Given the description of an element on the screen output the (x, y) to click on. 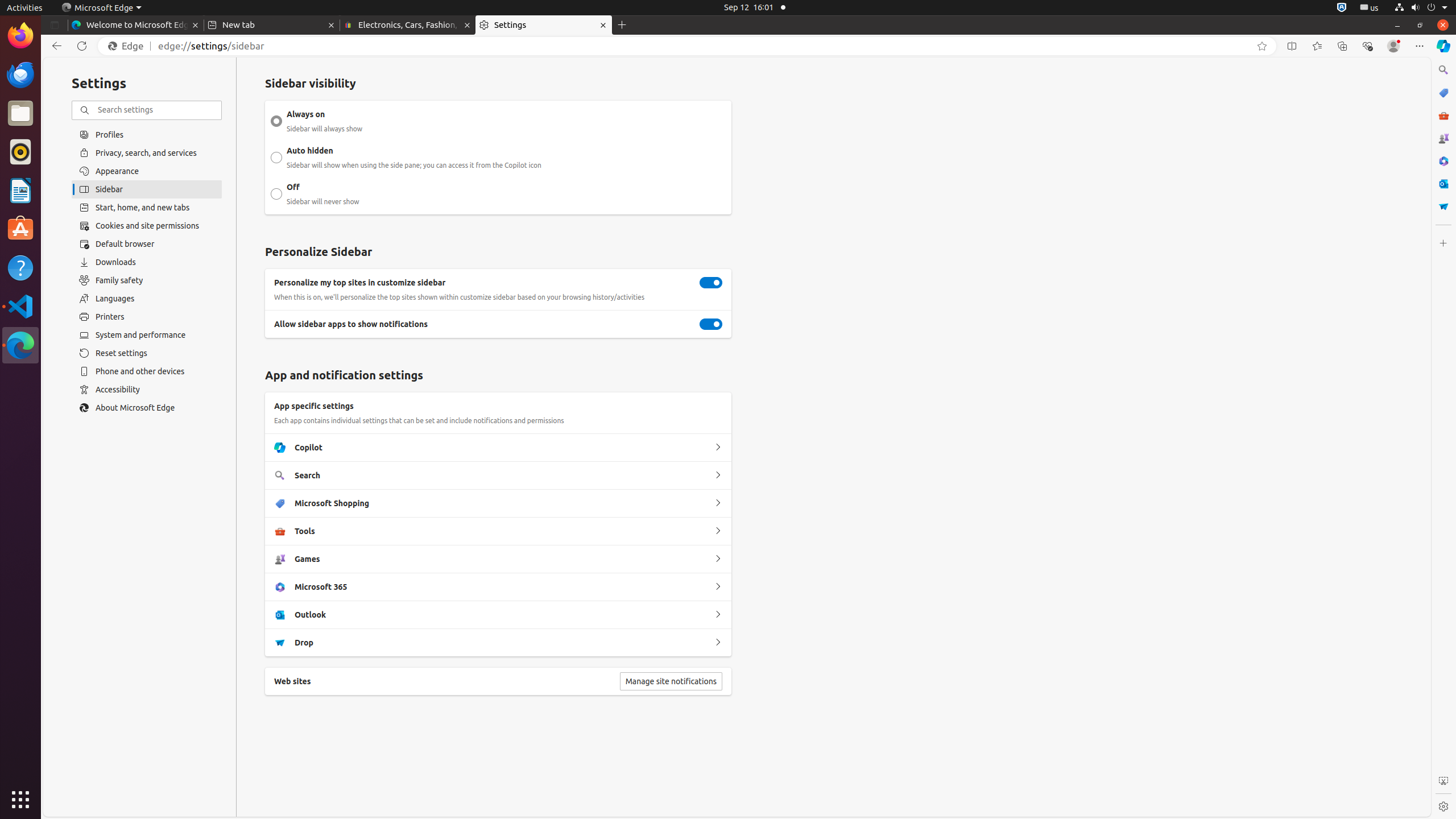
Personalize my top sites in customize sidebar Element type: check-box (710, 282)
Files Element type: push-button (20, 113)
Ubuntu Software Element type: push-button (20, 229)
Edge Element type: push-button (128, 46)
Allow sidebar apps to show notifications Element type: check-box (710, 323)
